Given the description of an element on the screen output the (x, y) to click on. 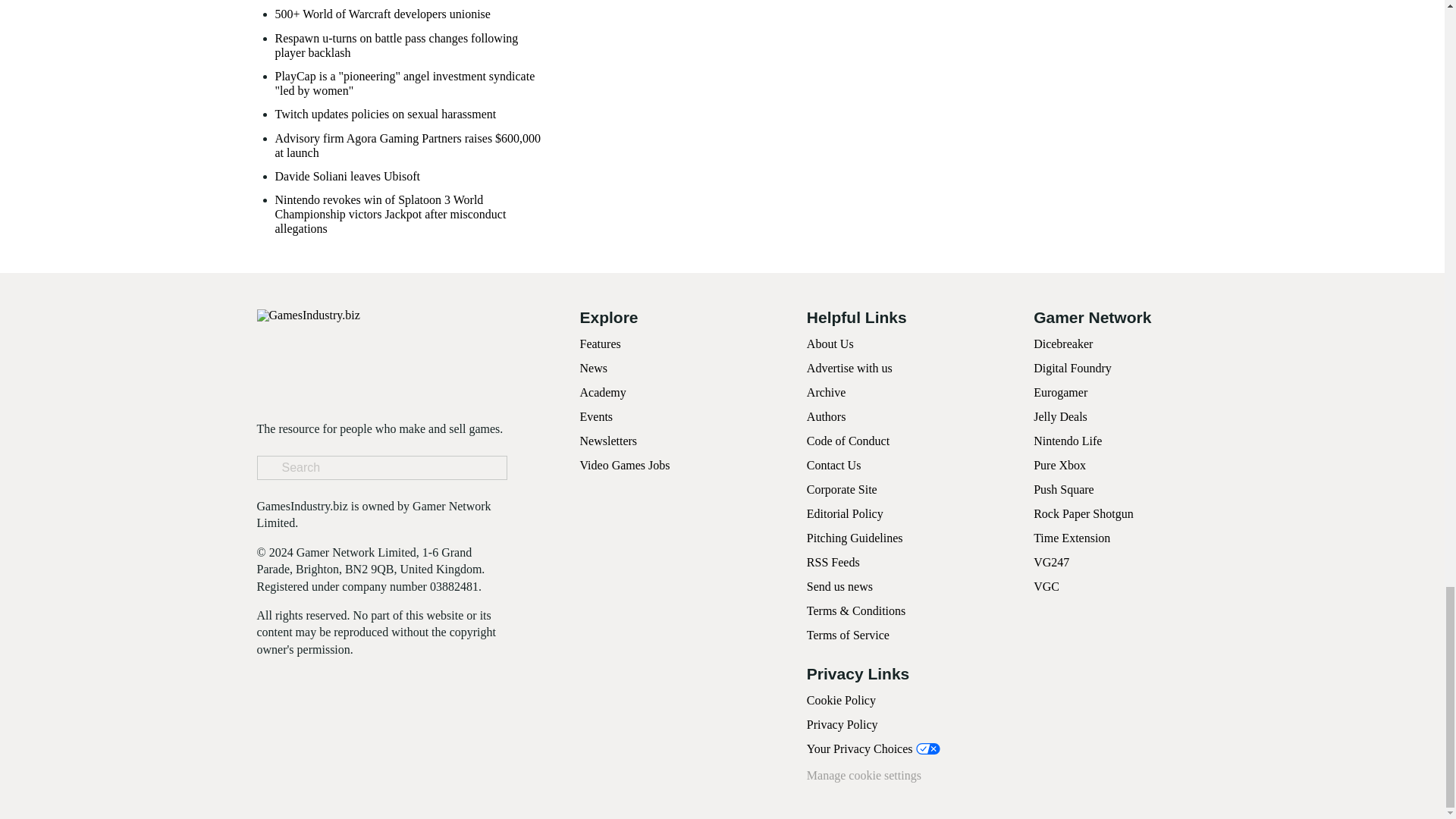
Features (599, 343)
Newsletters (608, 440)
Advertise with us (849, 367)
Events (595, 416)
Twitch updates policies on sexual harassment (385, 114)
Davide Soliani leaves Ubisoft (347, 175)
Academy (602, 391)
Video Games Jobs (624, 464)
About Us (829, 343)
News (593, 367)
Archive (825, 391)
